Given the description of an element on the screen output the (x, y) to click on. 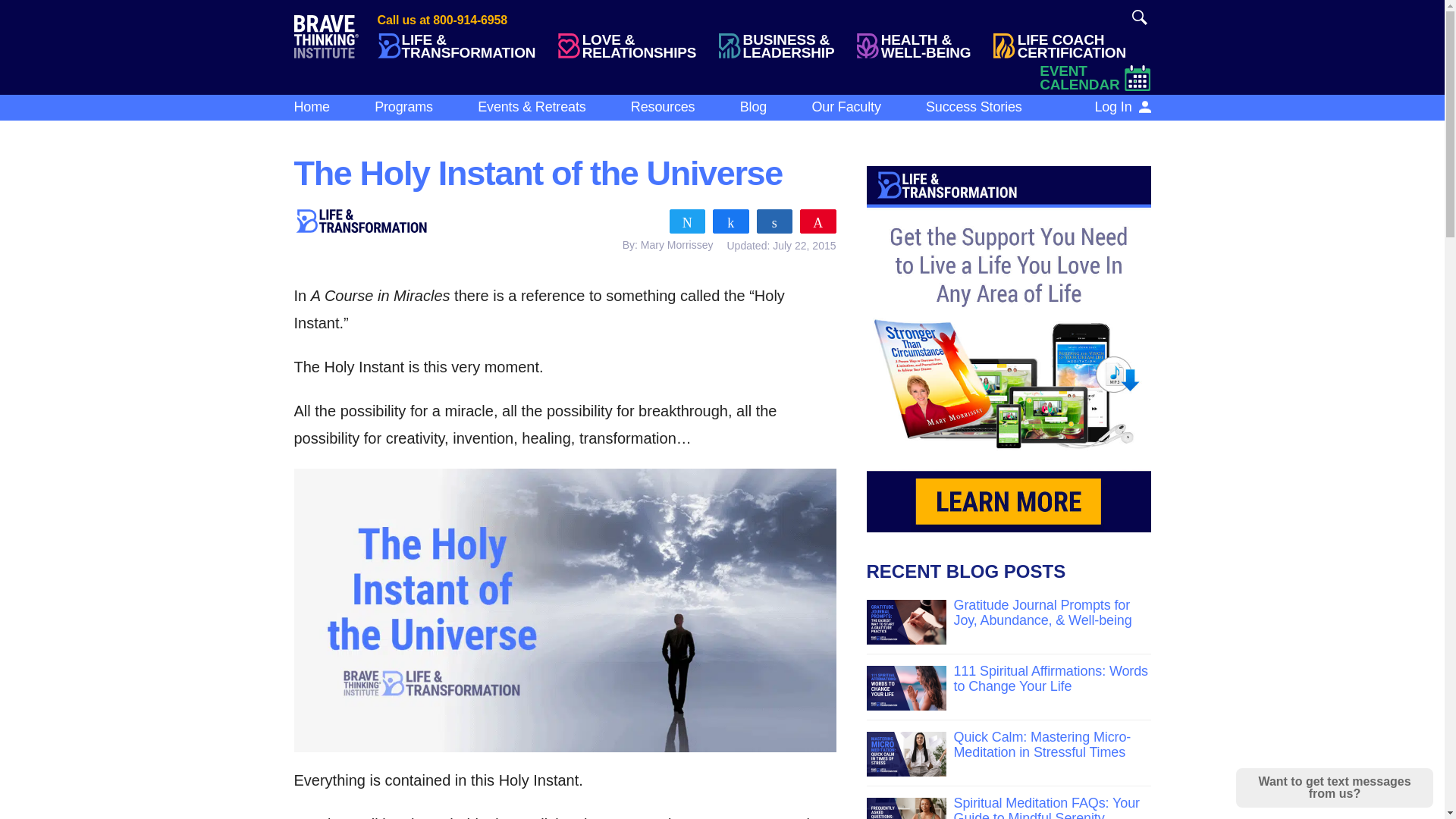
Search (1068, 45)
Call us at 800-914-6958 (1139, 17)
Search (453, 20)
Search (1139, 17)
